Given the description of an element on the screen output the (x, y) to click on. 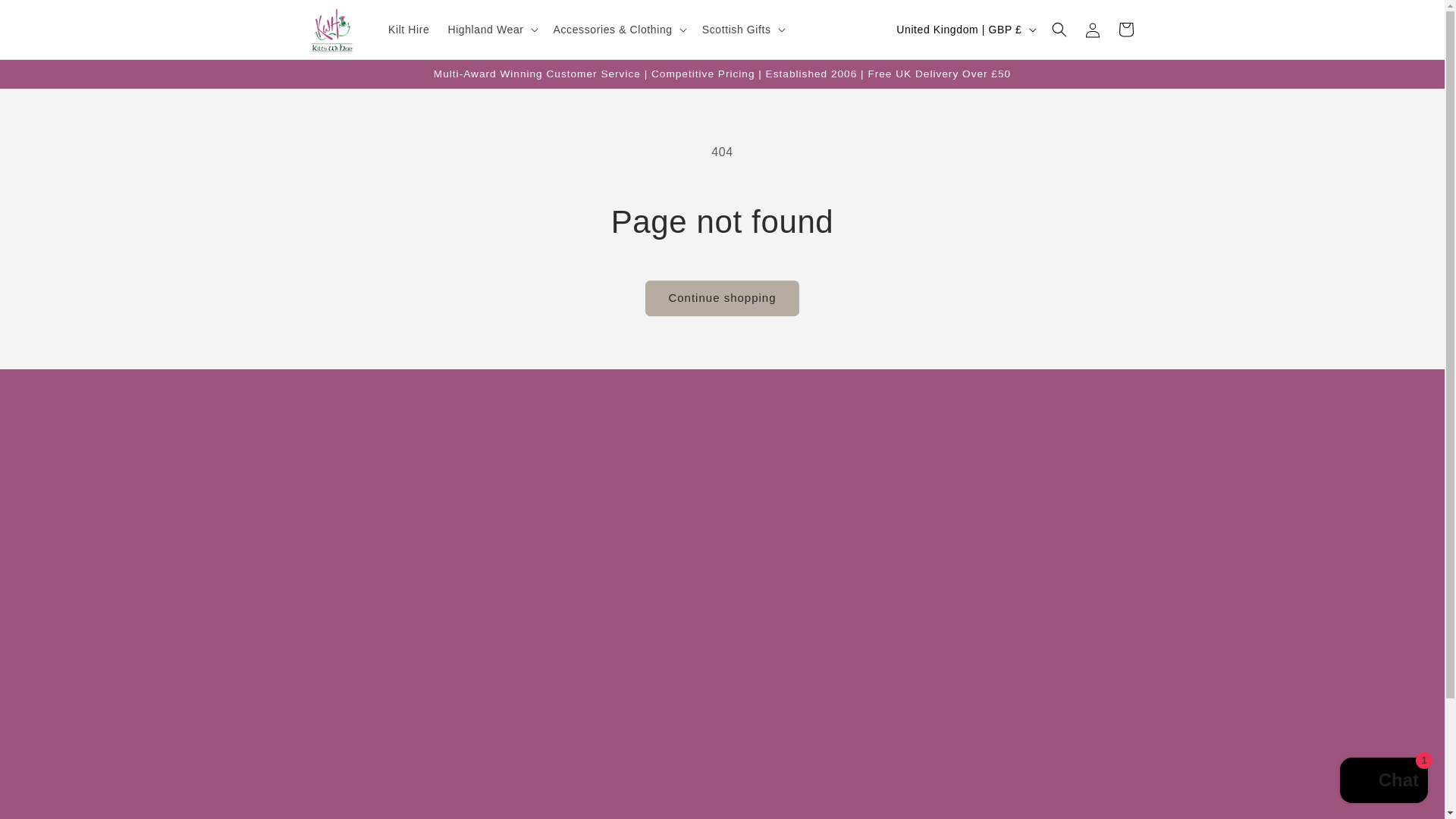
Skip to content (45, 17)
Call us on 01651 869339 (790, 504)
Shopify online store chat (1383, 781)
